Given the description of an element on the screen output the (x, y) to click on. 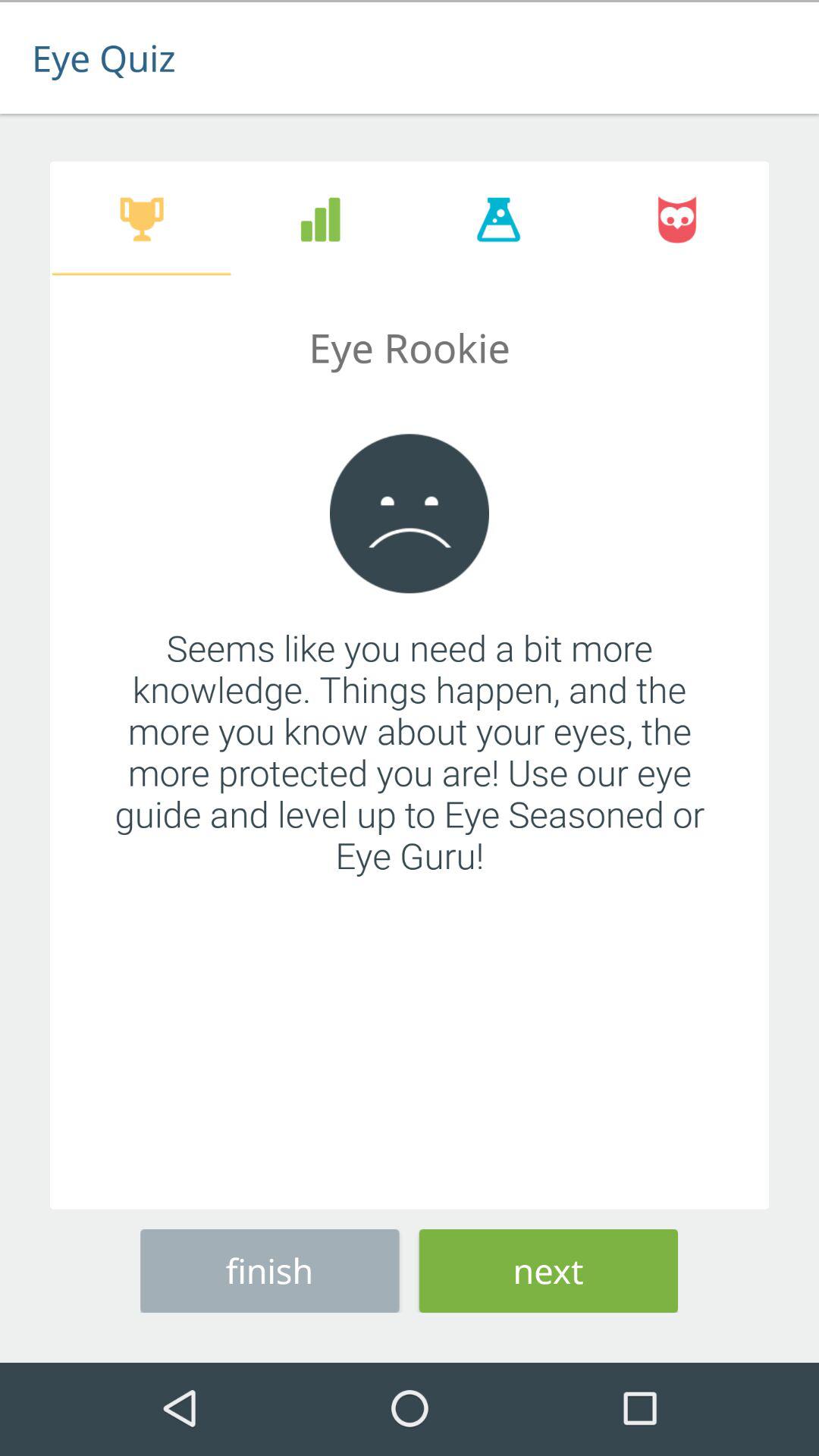
tap the icon next to finish item (548, 1268)
